Given the description of an element on the screen output the (x, y) to click on. 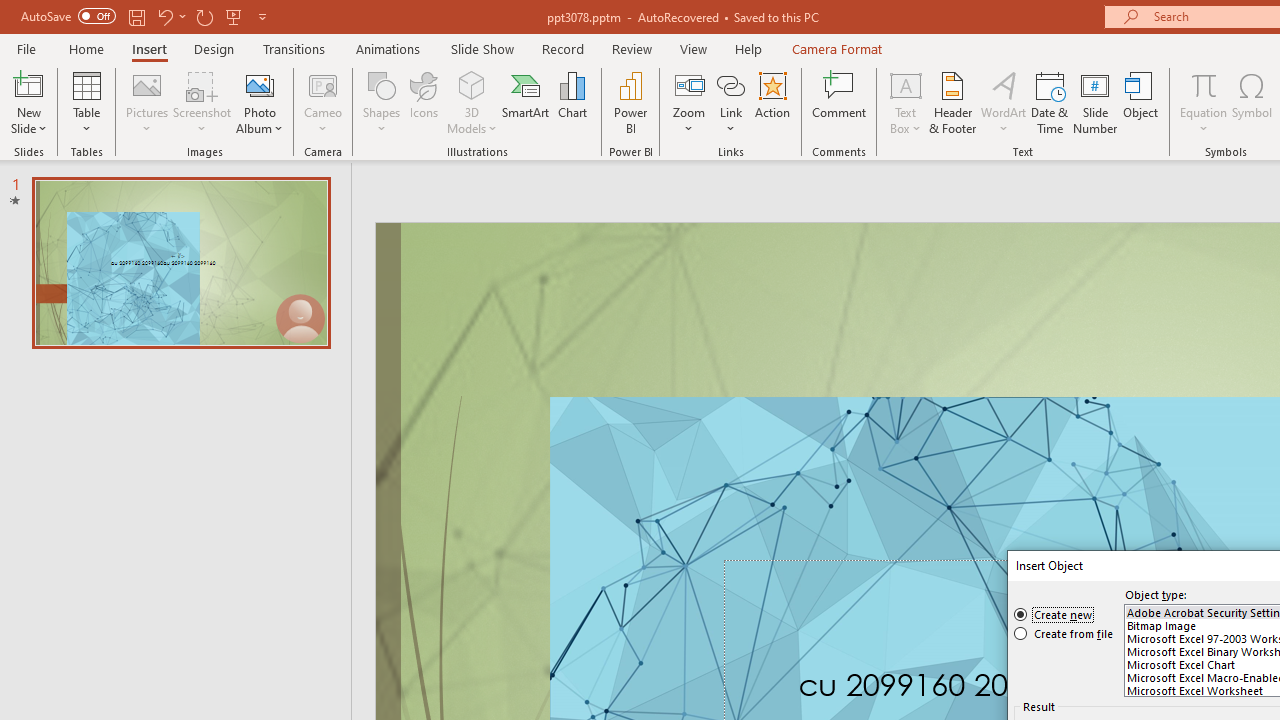
Header & Footer... (952, 102)
Link (731, 84)
Link (731, 102)
3D Models (472, 102)
Symbol... (1252, 102)
Photo Album... (259, 102)
